Given the description of an element on the screen output the (x, y) to click on. 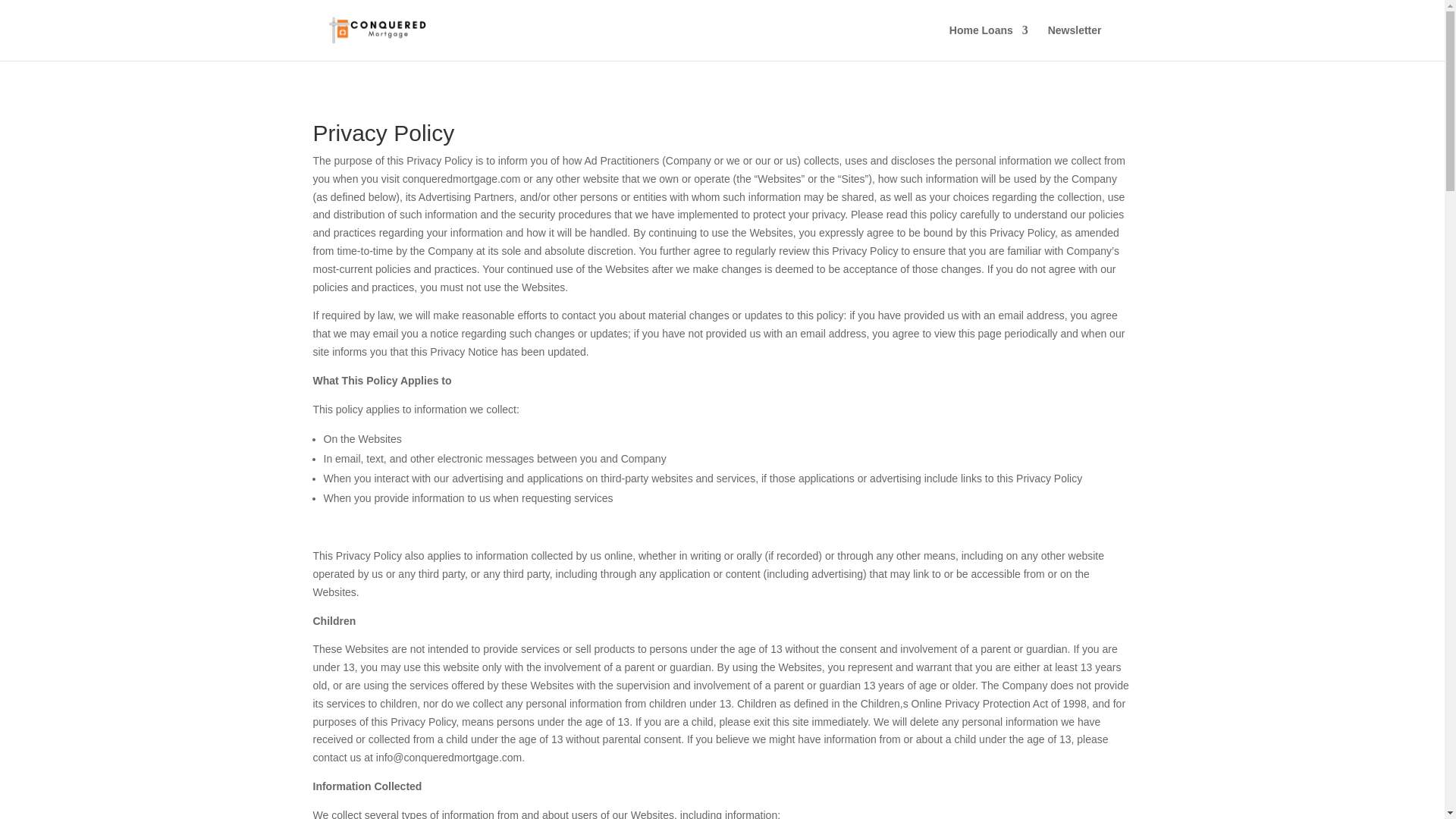
Home Loans (988, 42)
Newsletter (1075, 42)
